Given the description of an element on the screen output the (x, y) to click on. 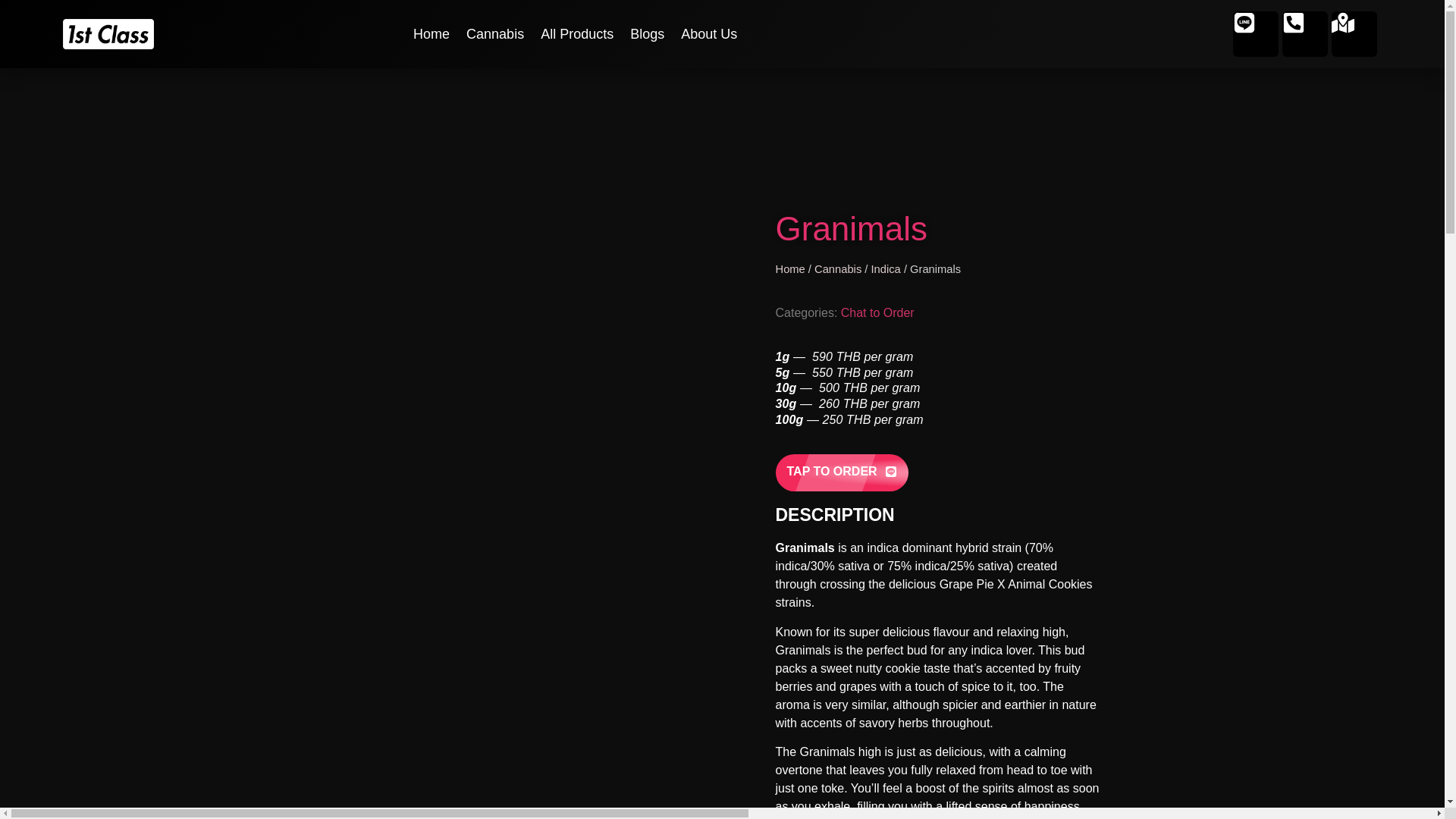
Cannabis (494, 33)
About Us (708, 33)
All Products (576, 33)
